Given the description of an element on the screen output the (x, y) to click on. 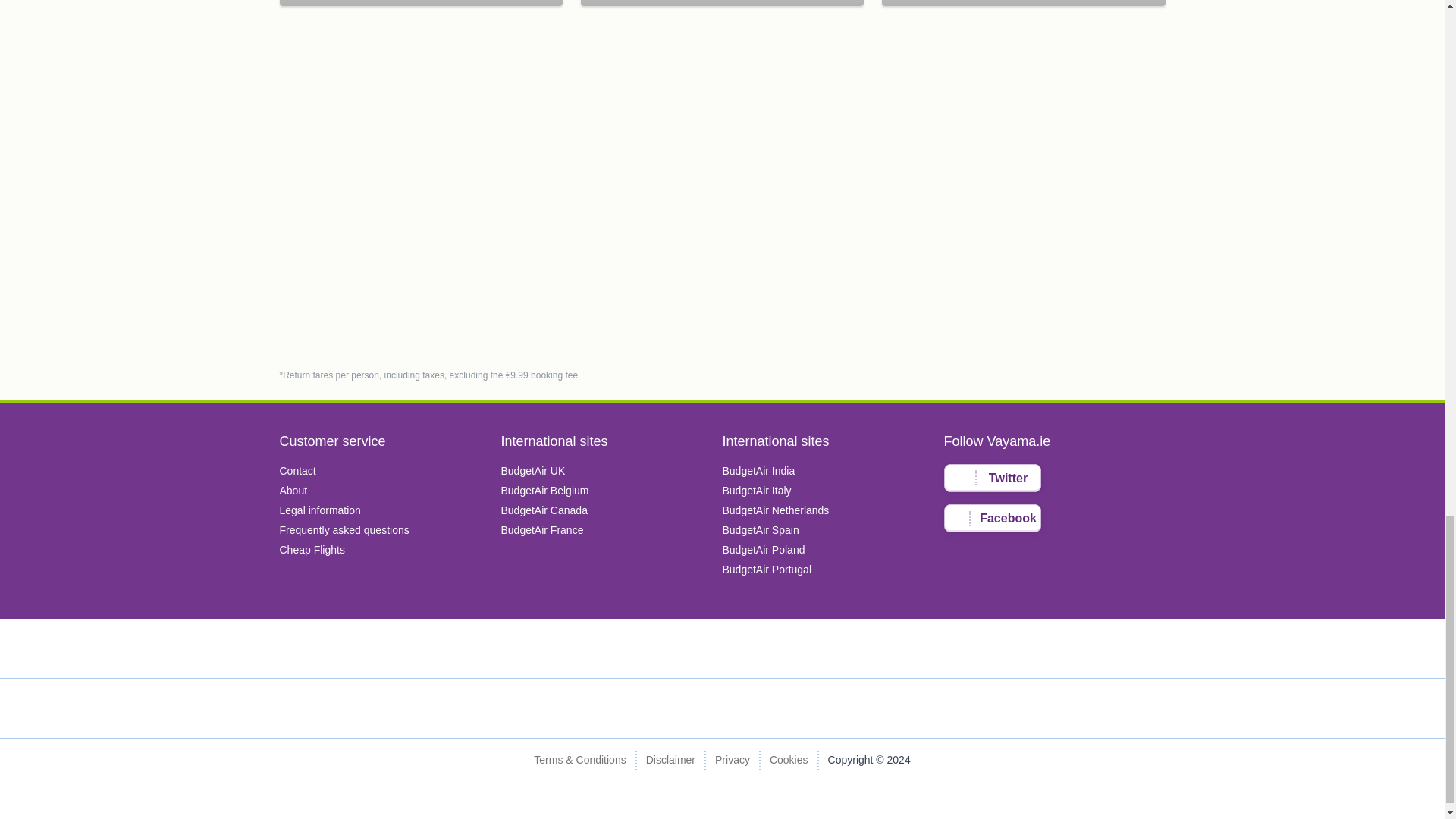
BudgetAir Canada (543, 510)
Privacy (731, 760)
Legal information (319, 510)
BudgetAir Belgium (544, 490)
BudgetAir Spain (759, 530)
BudgetAir India (758, 470)
Frequently asked questions (344, 530)
About (293, 490)
Cookies (789, 760)
BudgetAir UK (532, 470)
